Given the description of an element on the screen output the (x, y) to click on. 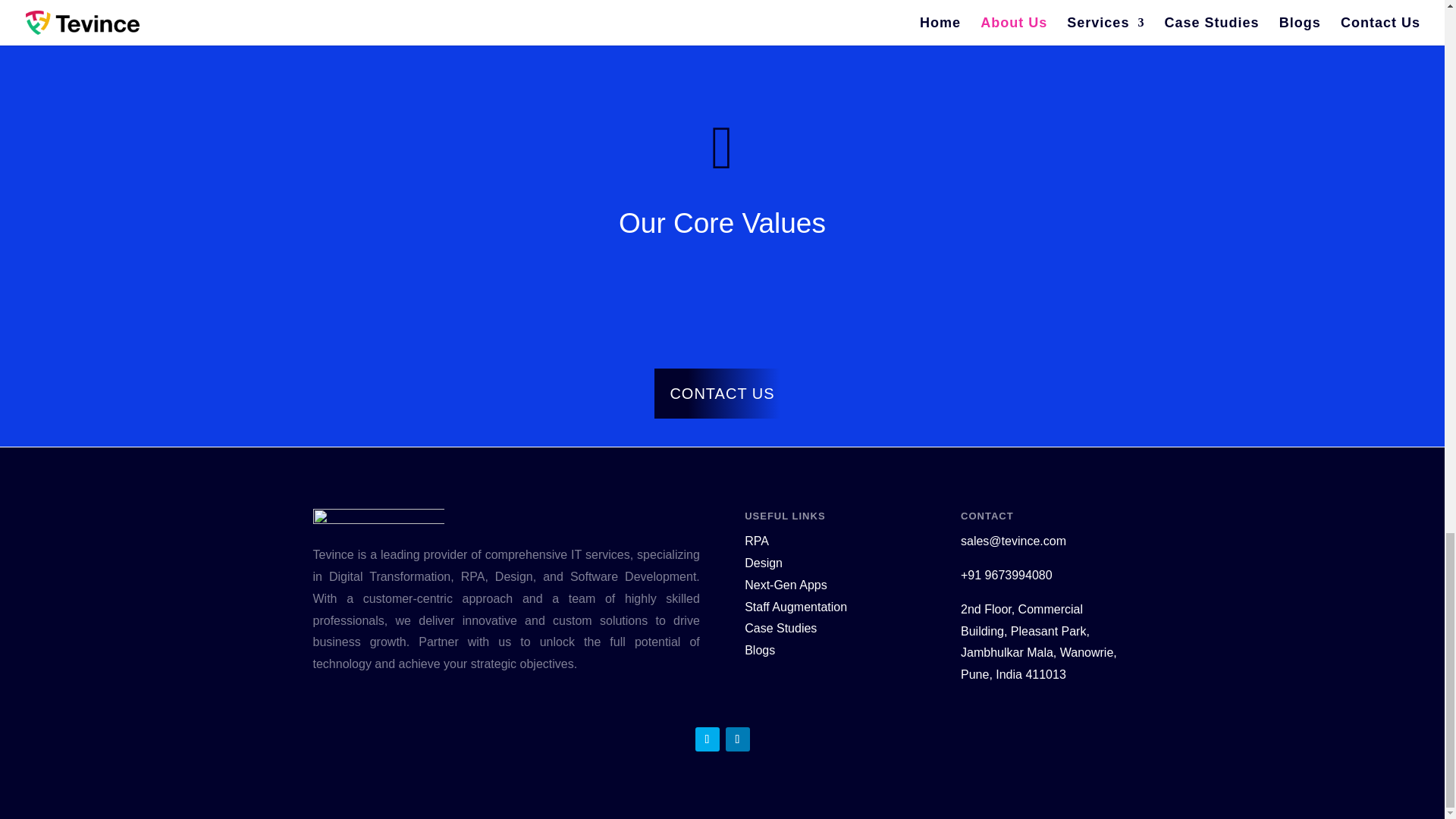
RPA (756, 540)
Design (763, 562)
Blogs (759, 649)
Tevince New Logo-white (378, 522)
CONTACT US (721, 393)
RPA (756, 540)
Design (763, 562)
Follow on LinkedIn (737, 739)
Next-Gen Apps (785, 584)
Next-Gen Apps (785, 584)
